Given the description of an element on the screen output the (x, y) to click on. 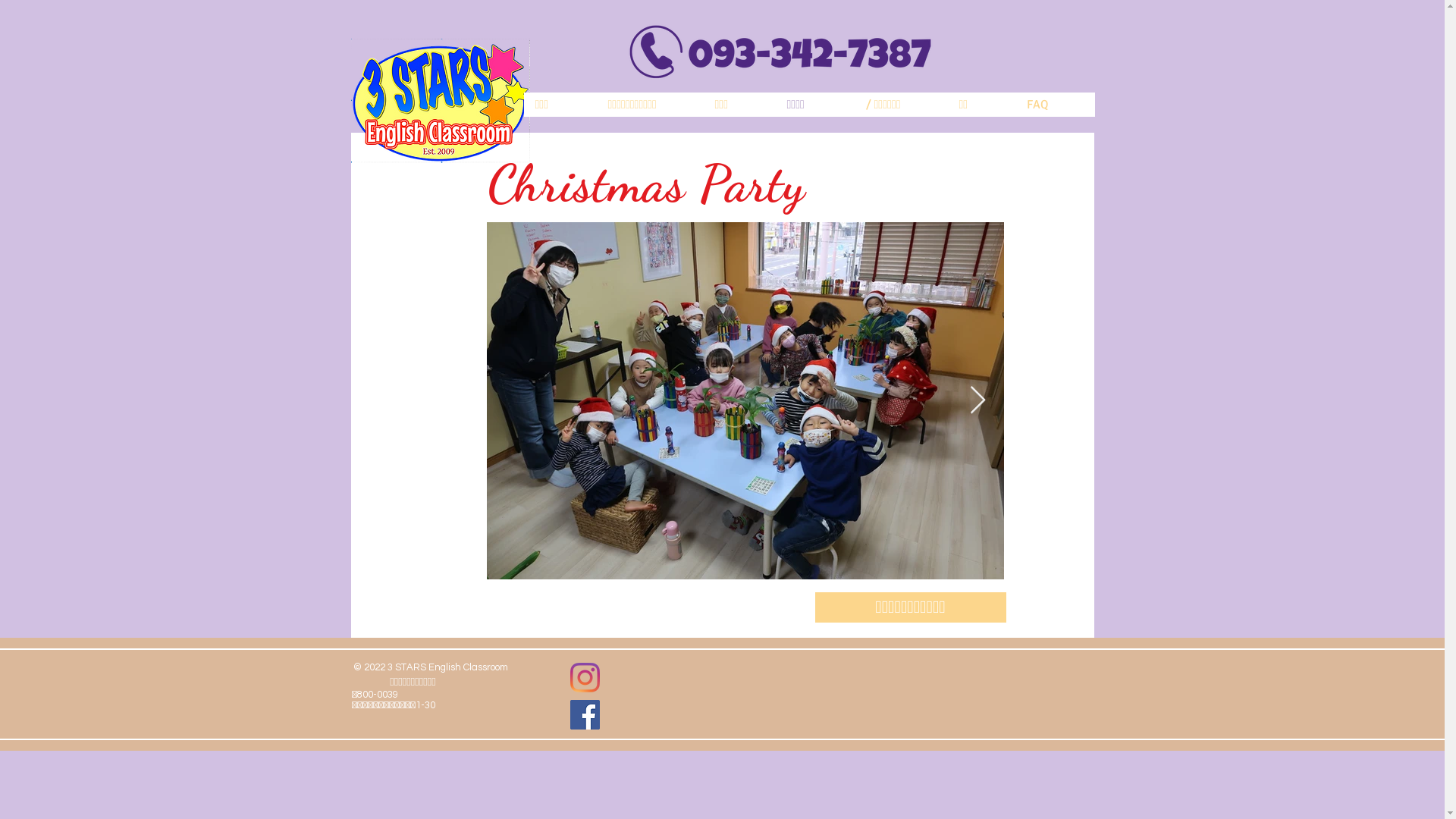
FAQ Element type: text (1054, 104)
phone number.png Element type: hover (780, 51)
no background logo.png Element type: hover (439, 100)
